Given the description of an element on the screen output the (x, y) to click on. 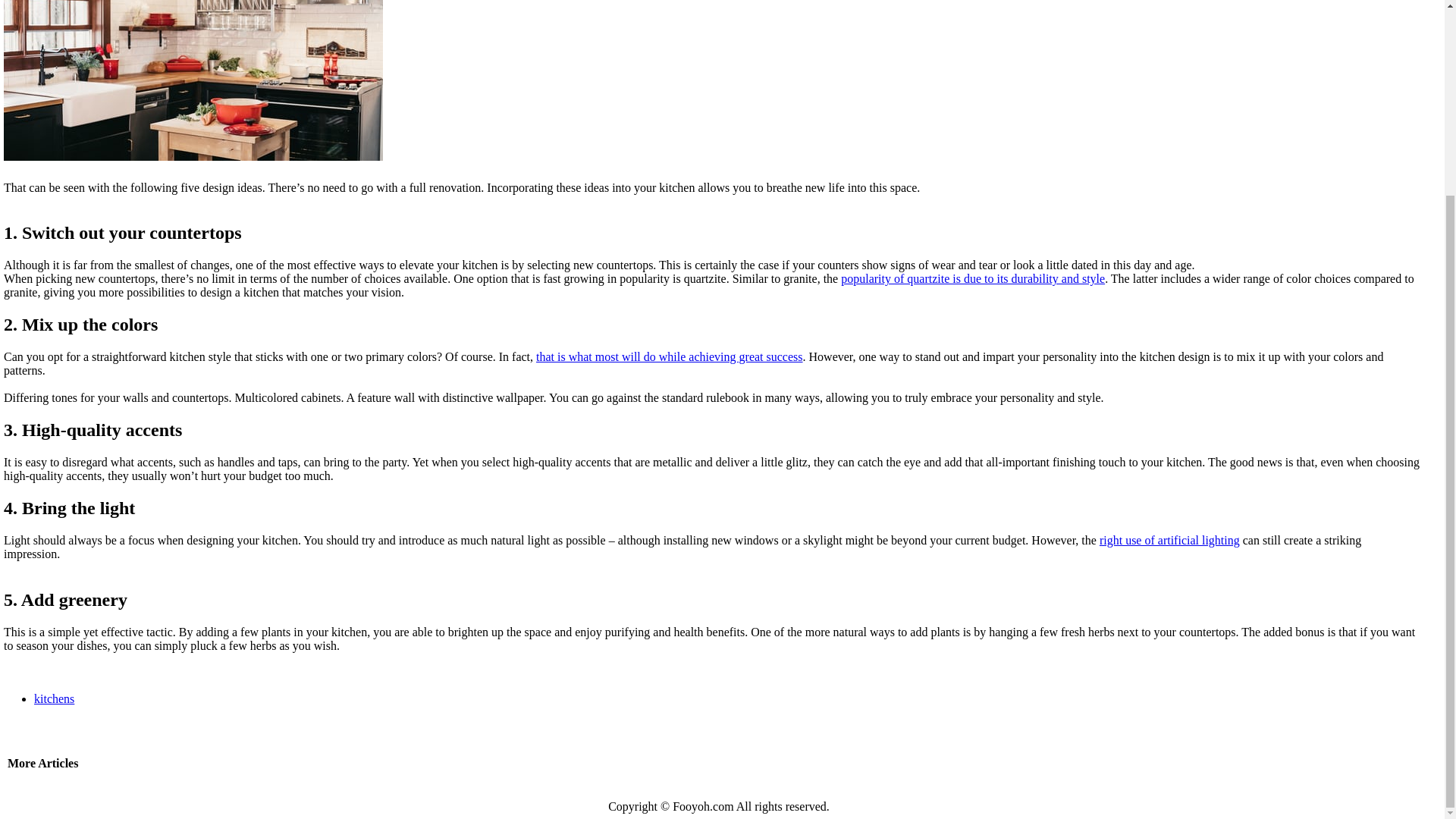
that is what most will do while achieving great success (668, 356)
kitchens (53, 698)
right use of artificial lighting (1169, 540)
kitchen1.jpeg (195, 82)
popularity of quartzite is due to its durability and style (973, 278)
